Given the description of an element on the screen output the (x, y) to click on. 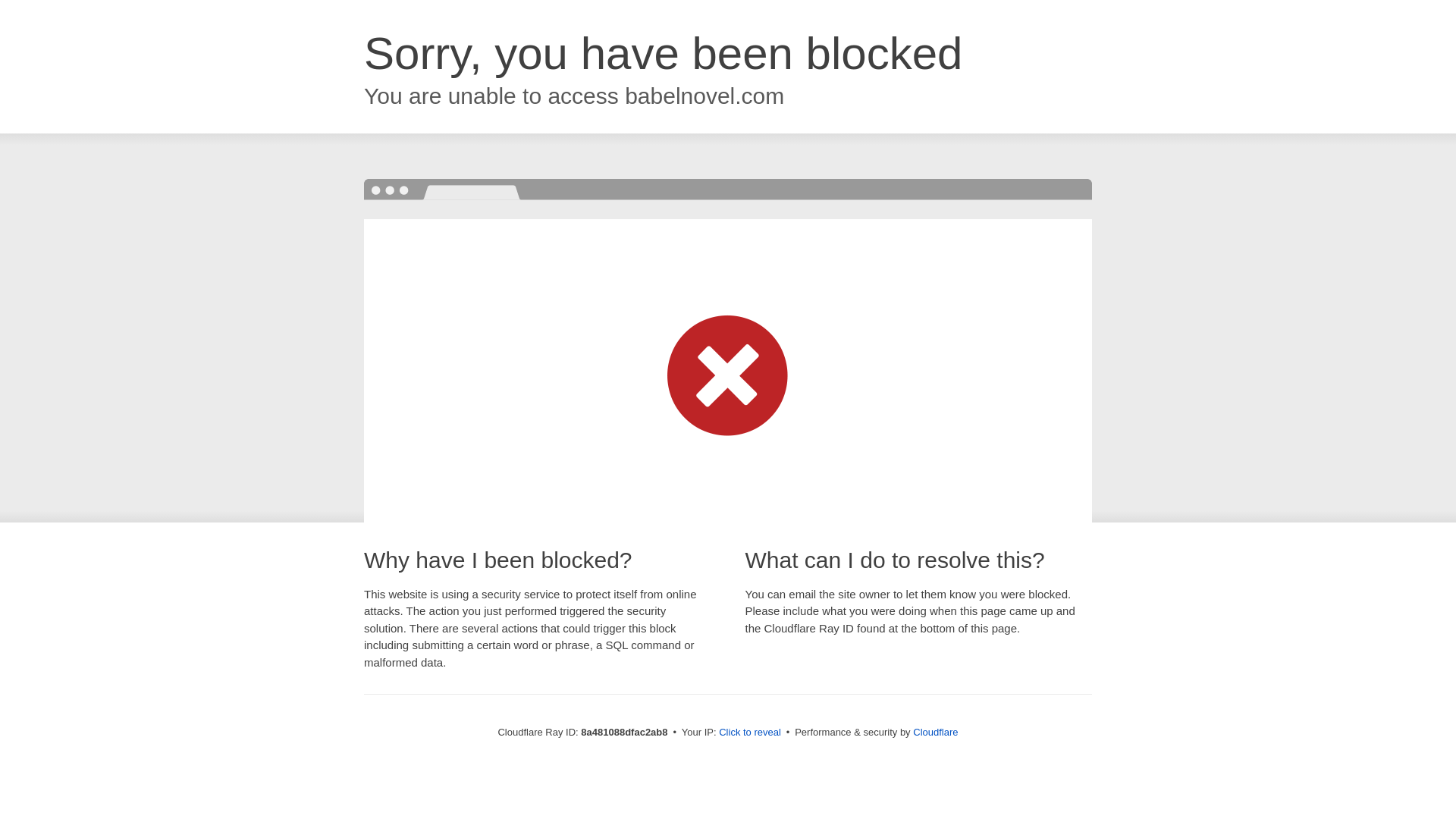
Click to reveal (749, 732)
Cloudflare (935, 731)
